Given the description of an element on the screen output the (x, y) to click on. 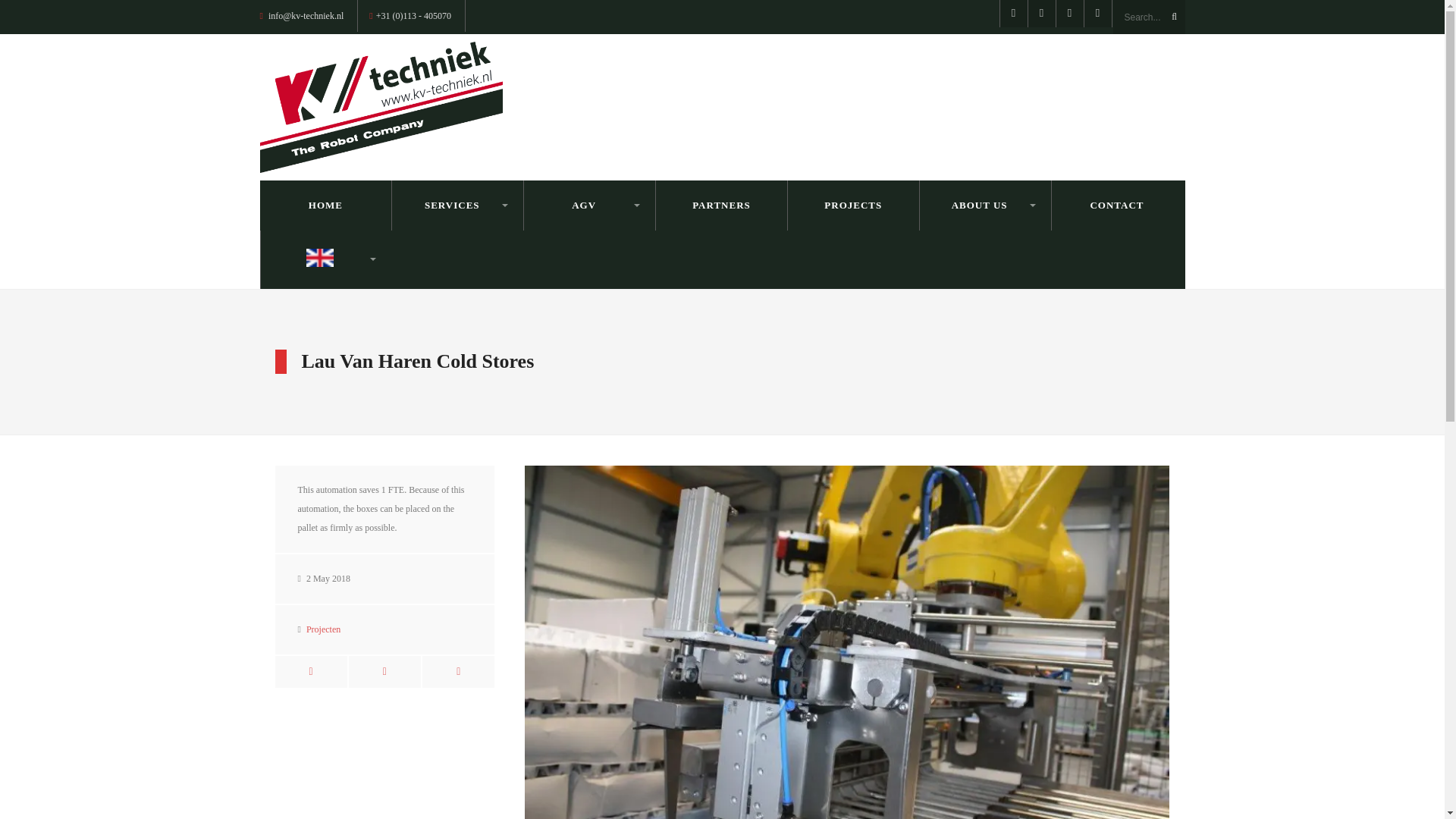
HOME (325, 205)
SERVICES (457, 205)
You Tube (1069, 13)
LinkedIn (1097, 13)
ABOUT US (984, 205)
CONTACT (1117, 205)
Search... (1149, 17)
PARTNERS (721, 205)
Facebook (1012, 13)
Instagram (1040, 13)
AGV (589, 205)
PROJECTS (853, 205)
Projecten (322, 629)
